Given the description of an element on the screen output the (x, y) to click on. 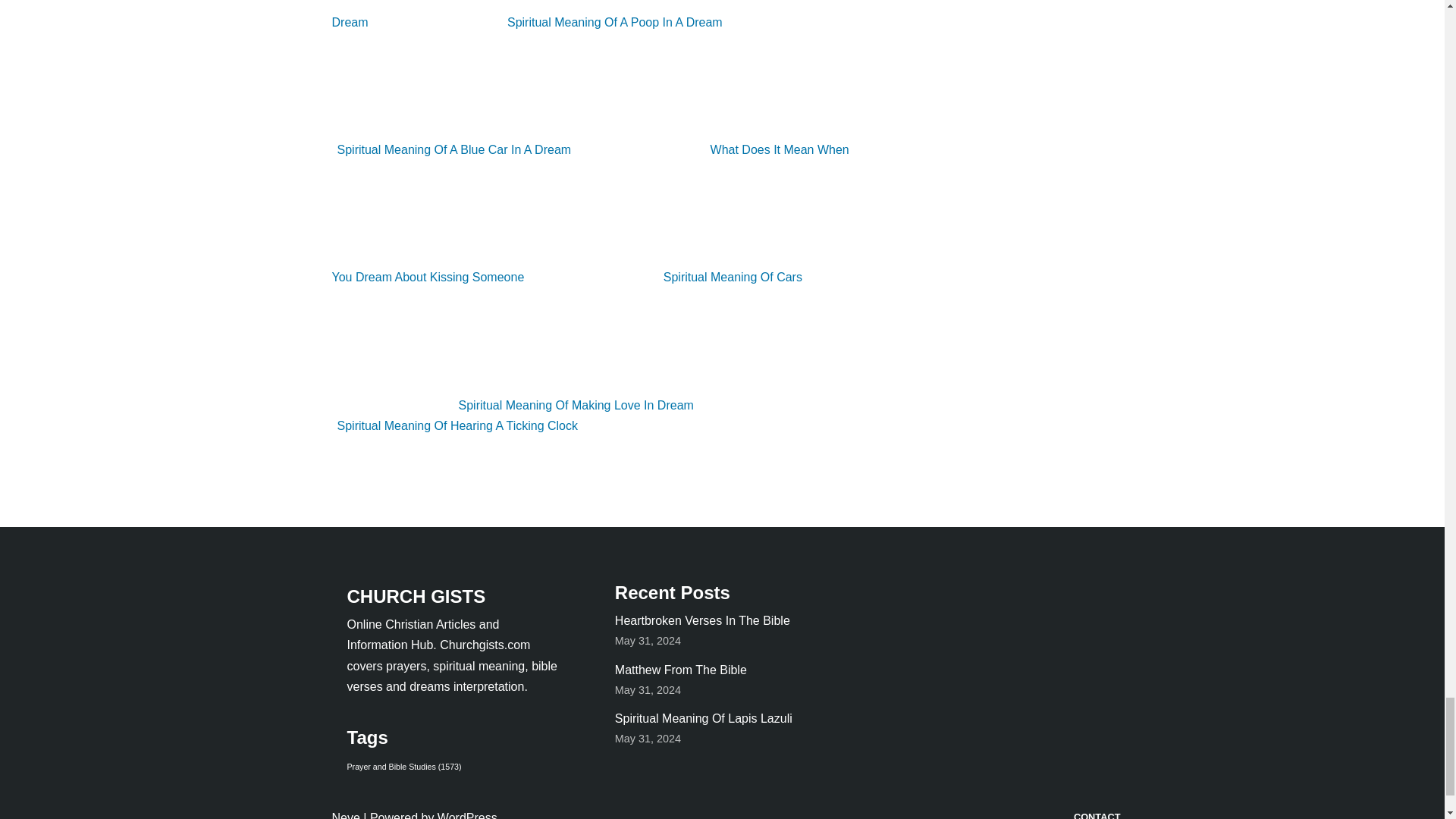
Spiritual Meaning Of Making Love In Dream (514, 404)
Spiritual Meaning Of Hearing A Ticking Clock (579, 415)
Spiritual Meaning Of Kissing In A Dream (596, 14)
What Does It Mean When You Dream About Kissing Someone (589, 213)
Spiritual Meaning Of A Blue Car In A Dream (594, 85)
Spiritual Meaning Of A Blue Car In A Dream (594, 85)
Spiritual Meaning Of Hearing A Ticking Clock (579, 415)
Spiritual Meaning Of A Poop In A Dream (554, 21)
Spiritual Meaning Of Cars (672, 277)
Spiritual Meaning Of A Poop In A Dream (554, 21)
